Given the description of an element on the screen output the (x, y) to click on. 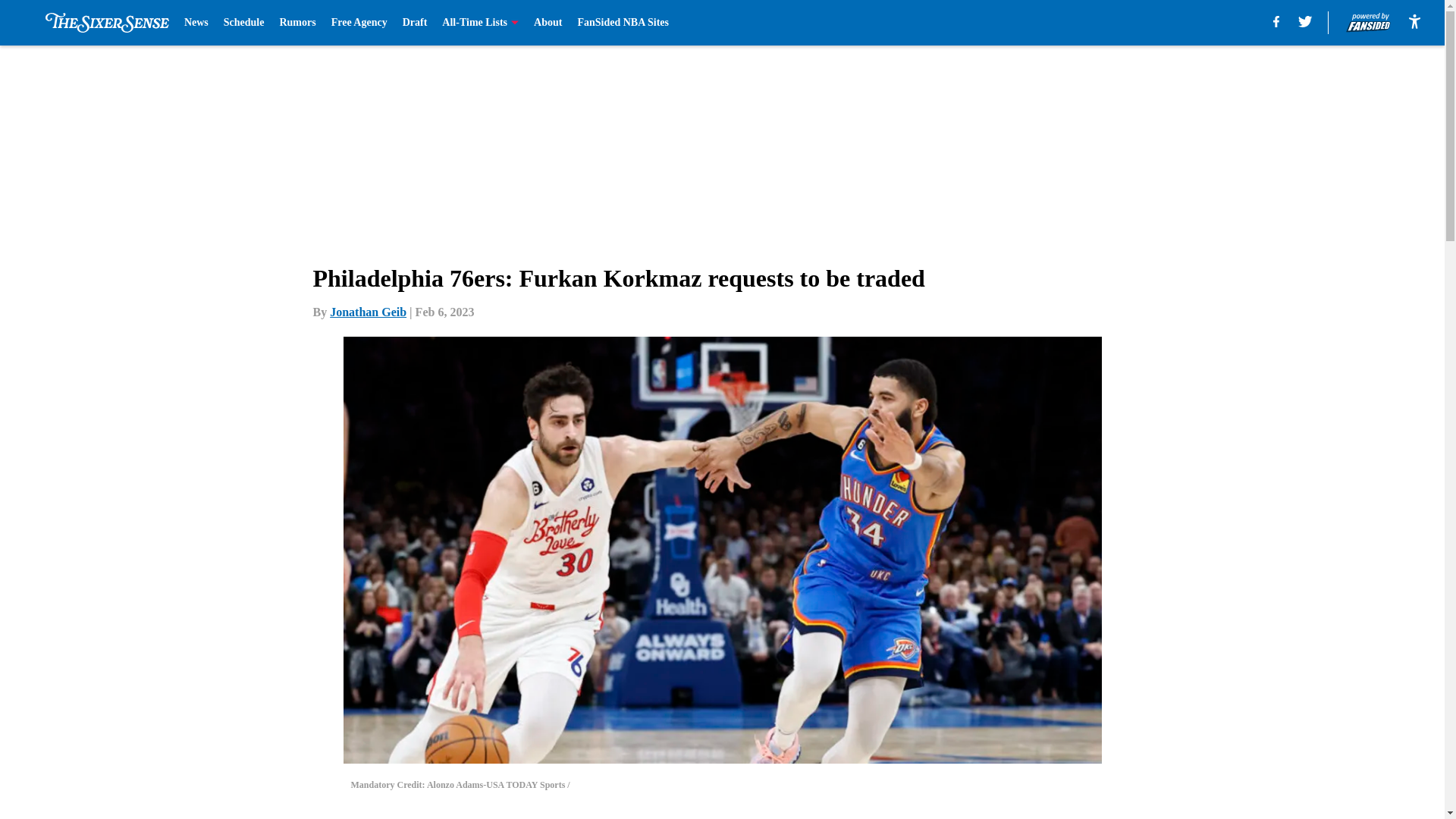
About (548, 22)
Schedule (244, 22)
News (196, 22)
Free Agency (359, 22)
Jonathan Geib (368, 311)
All-Time Lists (480, 22)
FanSided NBA Sites (622, 22)
Draft (415, 22)
Rumors (297, 22)
